Given the description of an element on the screen output the (x, y) to click on. 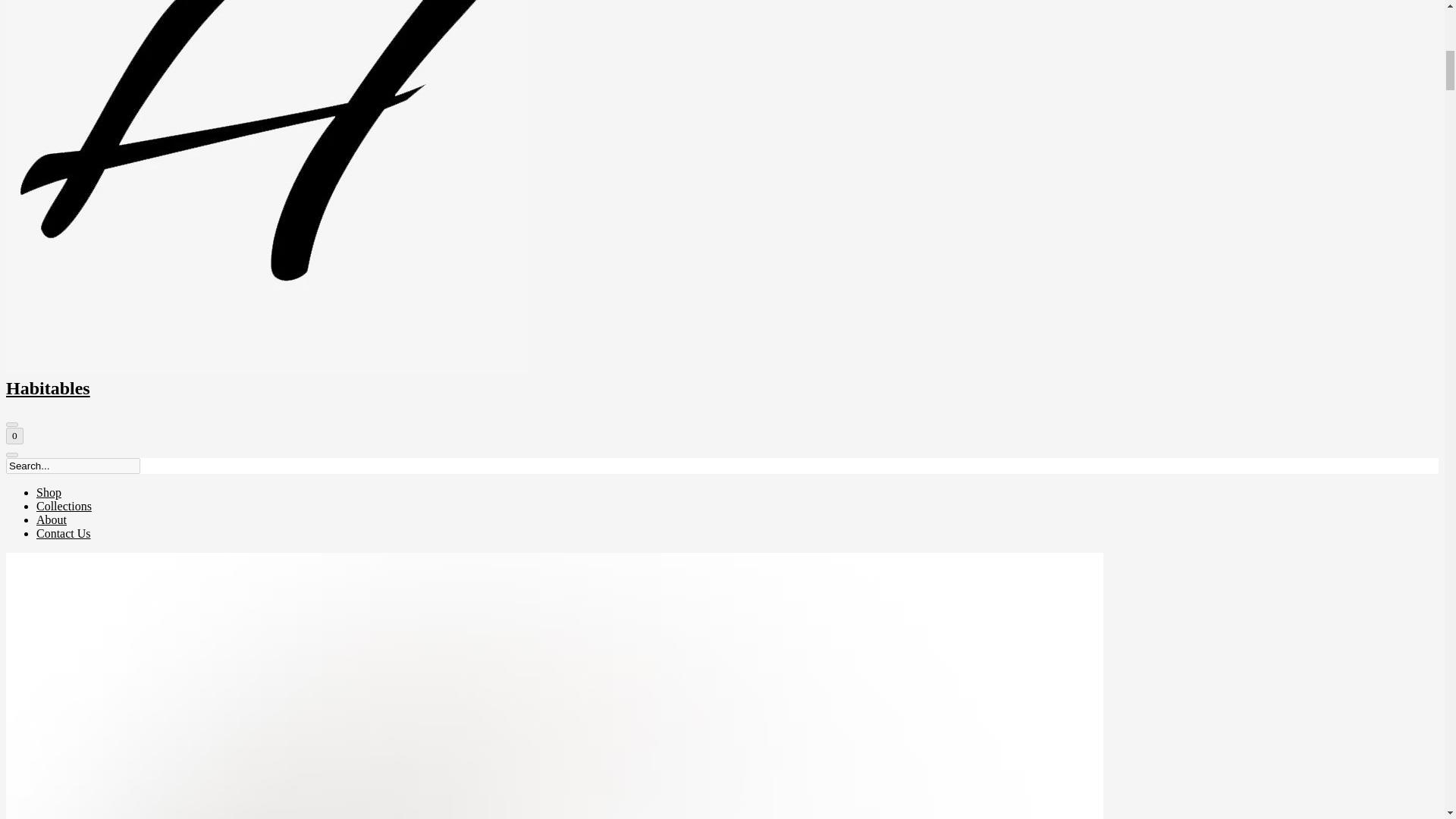
About (51, 519)
Collections (63, 505)
Contact Us (63, 533)
0 (14, 435)
Shop (48, 492)
